Given the description of an element on the screen output the (x, y) to click on. 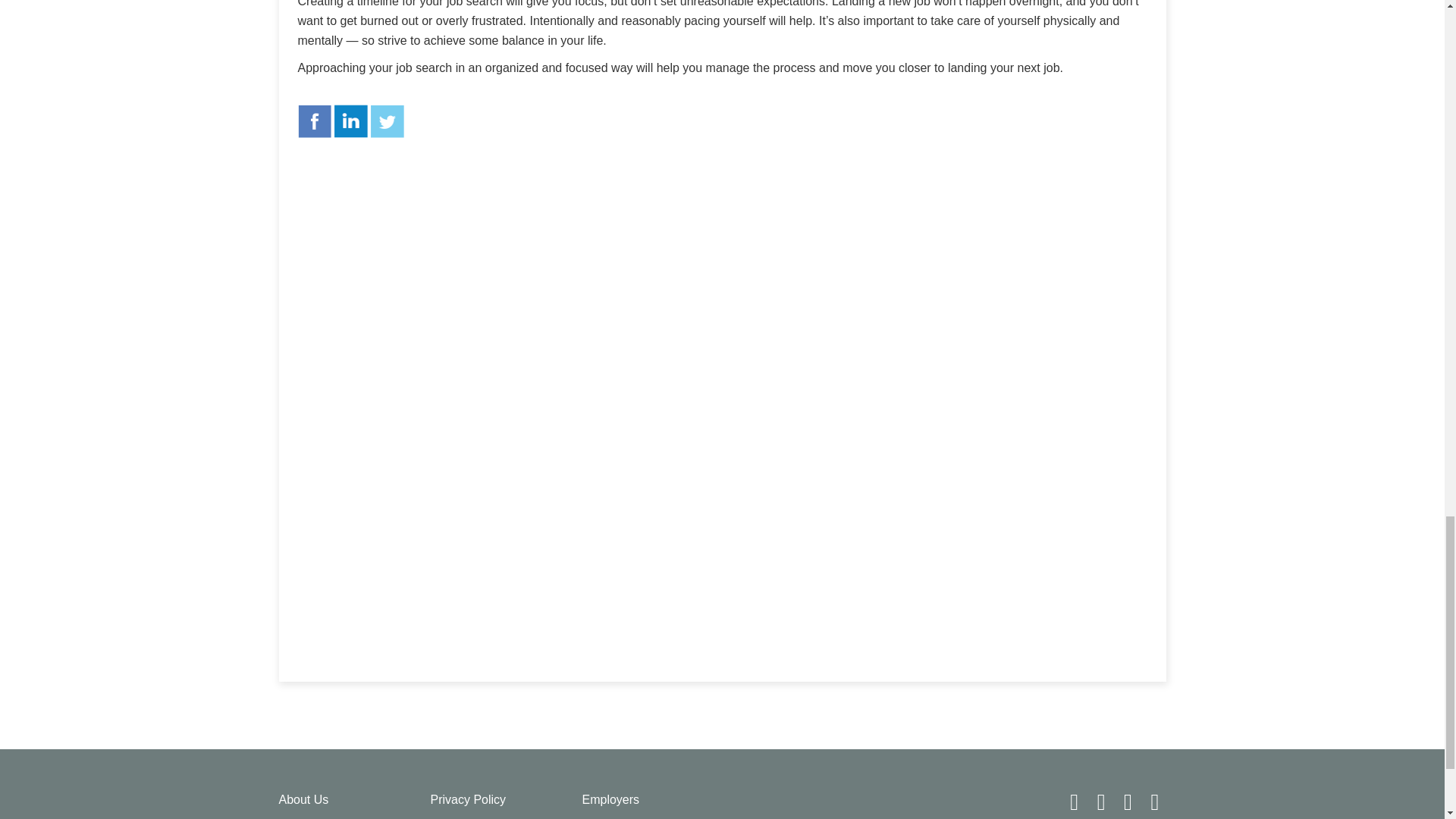
LinkedIn (351, 121)
Twitter (387, 120)
Follow Us on Facebook (1075, 805)
LinkedIn (351, 120)
Follow Us on Linked In (1129, 805)
Facebook (313, 121)
Twitter (387, 121)
Follow Us on You Tube (1154, 805)
Follow Us on Twitter (1102, 805)
Facebook (313, 120)
